Given the description of an element on the screen output the (x, y) to click on. 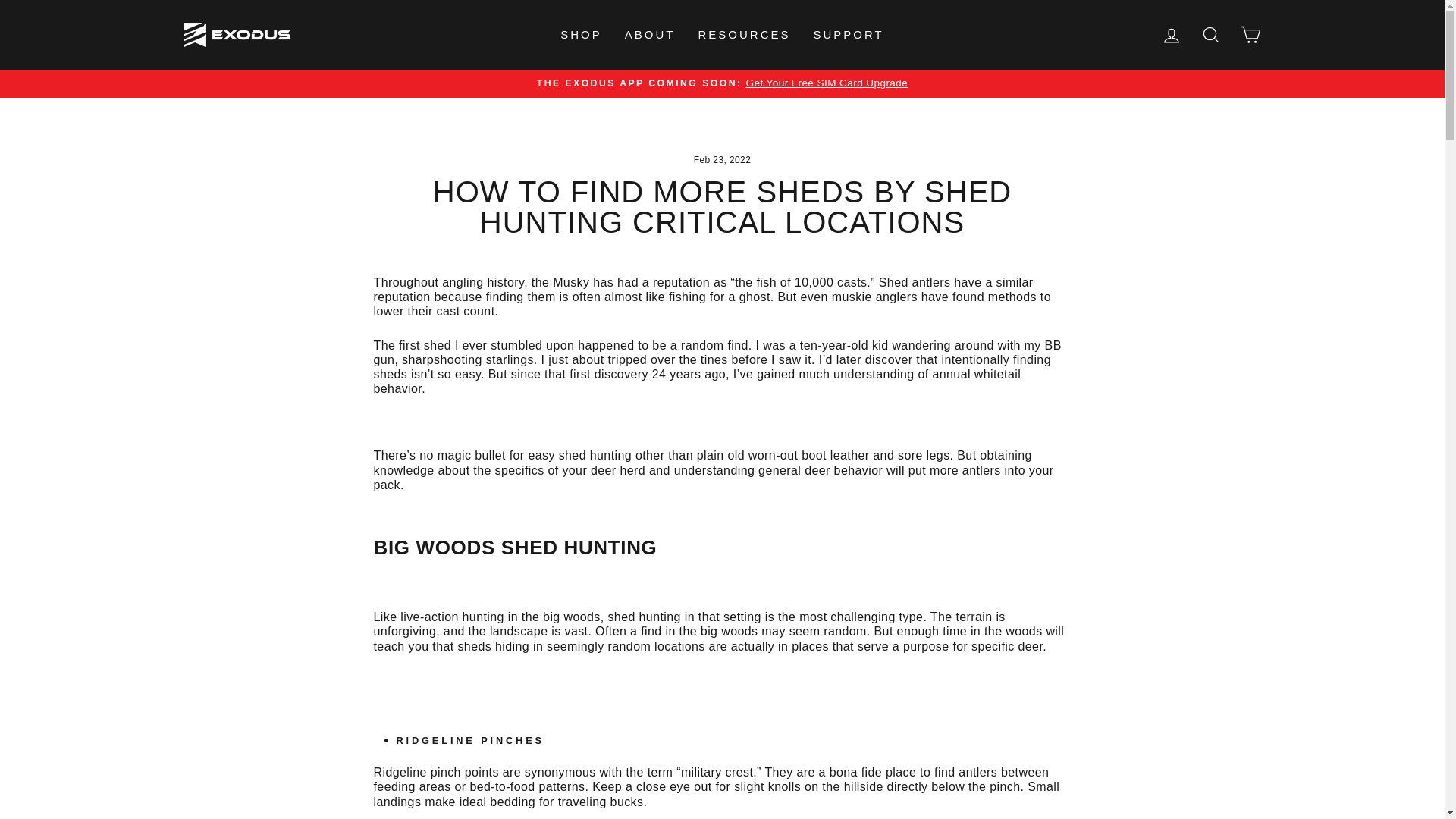
SHOP (580, 34)
